Given the description of an element on the screen output the (x, y) to click on. 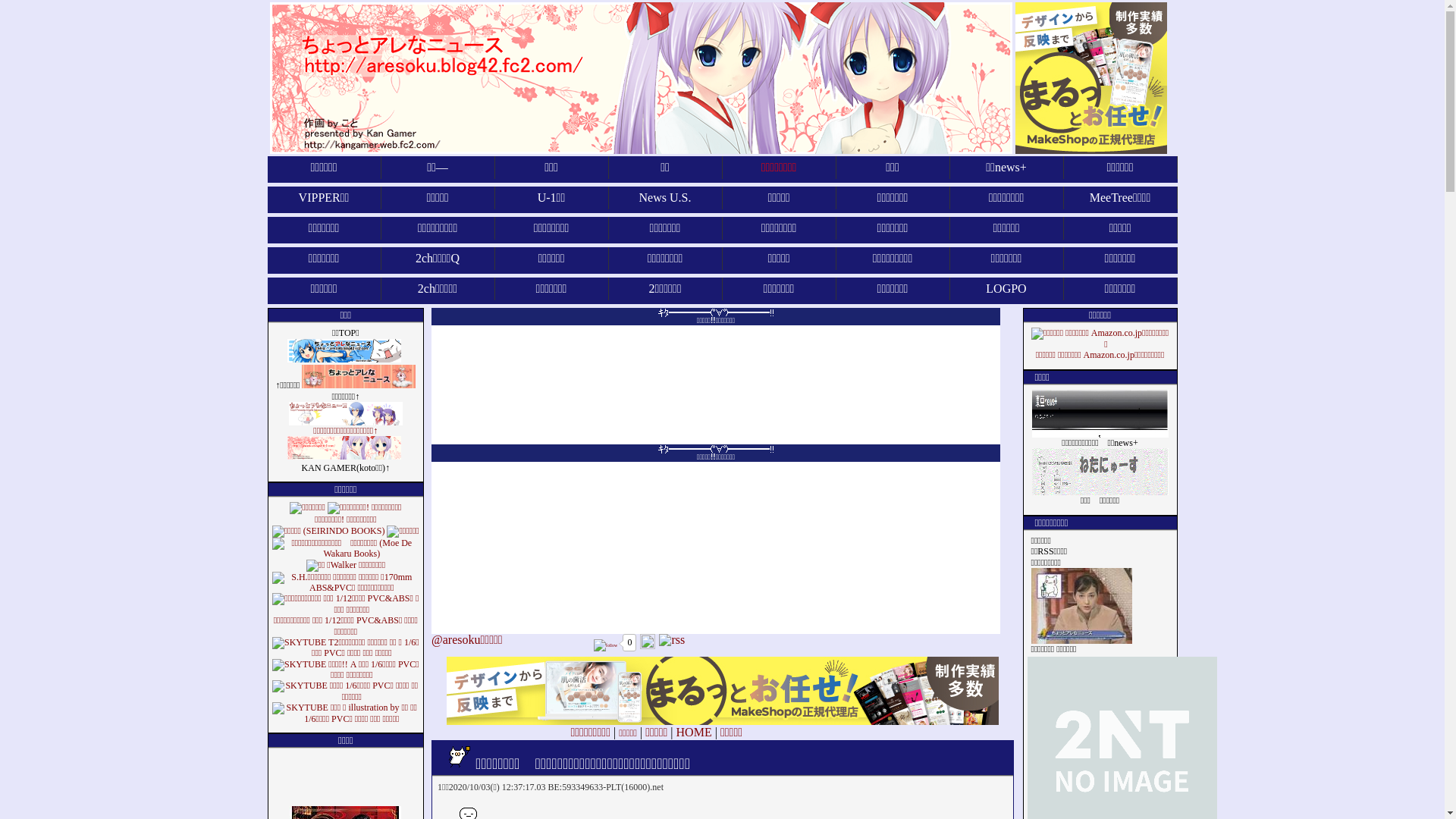
LOGPO Element type: text (1006, 288)
HOME Element type: text (694, 731)
News U.S. Element type: text (664, 197)
